Given the description of an element on the screen output the (x, y) to click on. 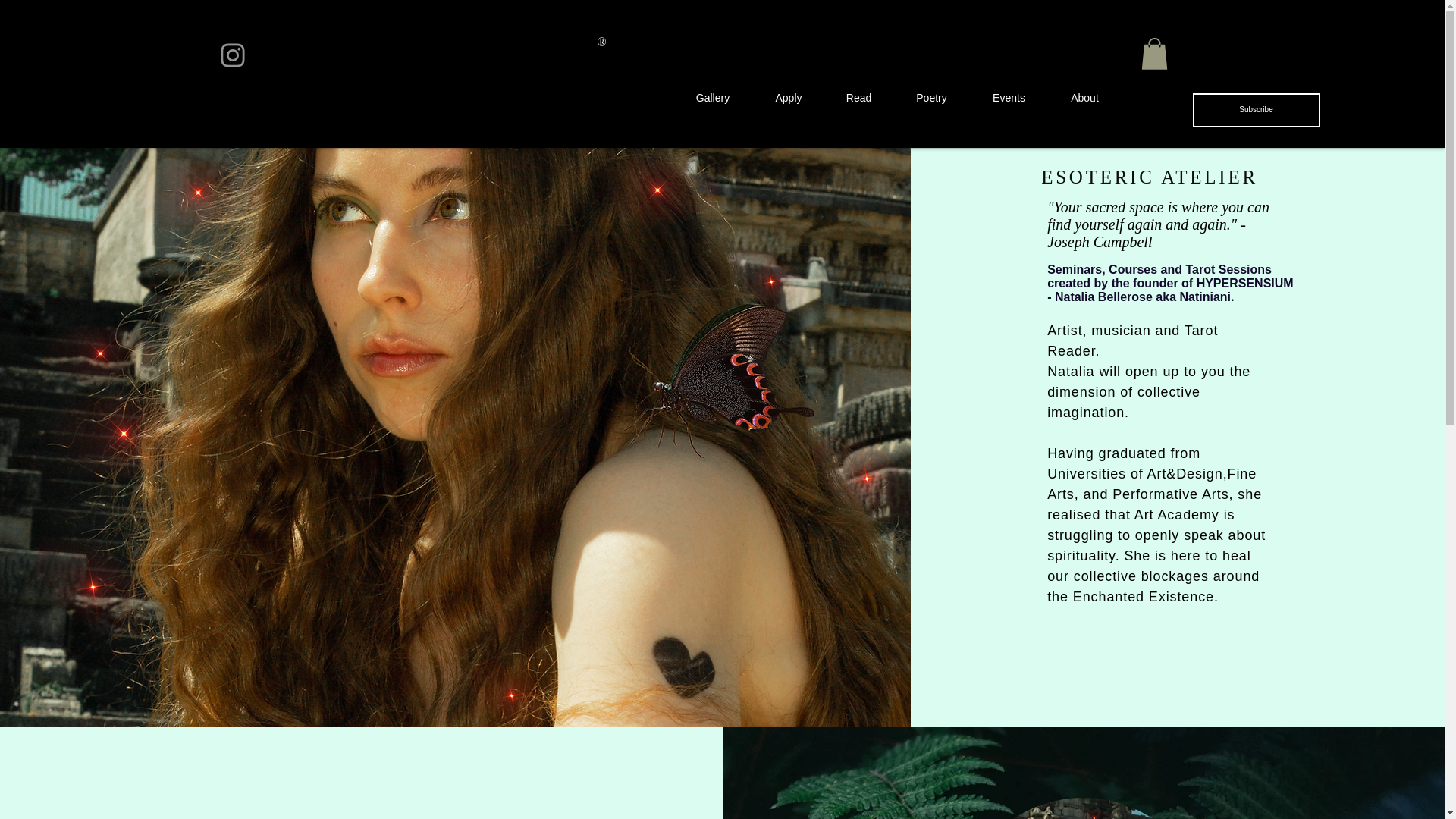
Gallery (712, 97)
About (1085, 97)
Subscribe (1255, 110)
Apply (788, 97)
Read (859, 97)
Poetry (932, 97)
Events (1009, 97)
